Given the description of an element on the screen output the (x, y) to click on. 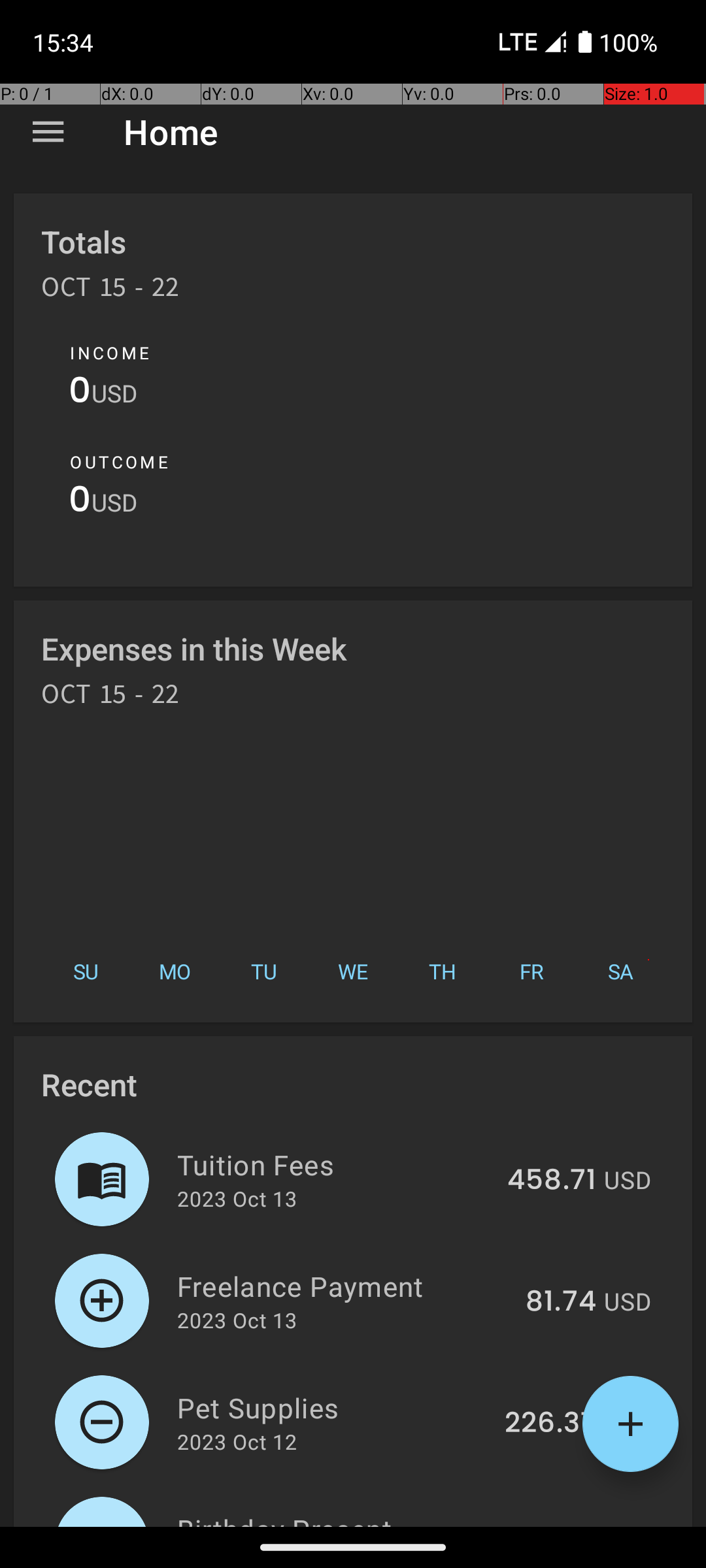
Tuition Fees Element type: android.widget.TextView (334, 1164)
458.71 Element type: android.widget.TextView (551, 1180)
81.74 Element type: android.widget.TextView (560, 1301)
Pet Supplies Element type: android.widget.TextView (333, 1407)
226.37 Element type: android.widget.TextView (550, 1423)
Birthday Present Element type: android.widget.TextView (335, 1518)
139.74 Element type: android.widget.TextView (551, 1524)
